Given the description of an element on the screen output the (x, y) to click on. 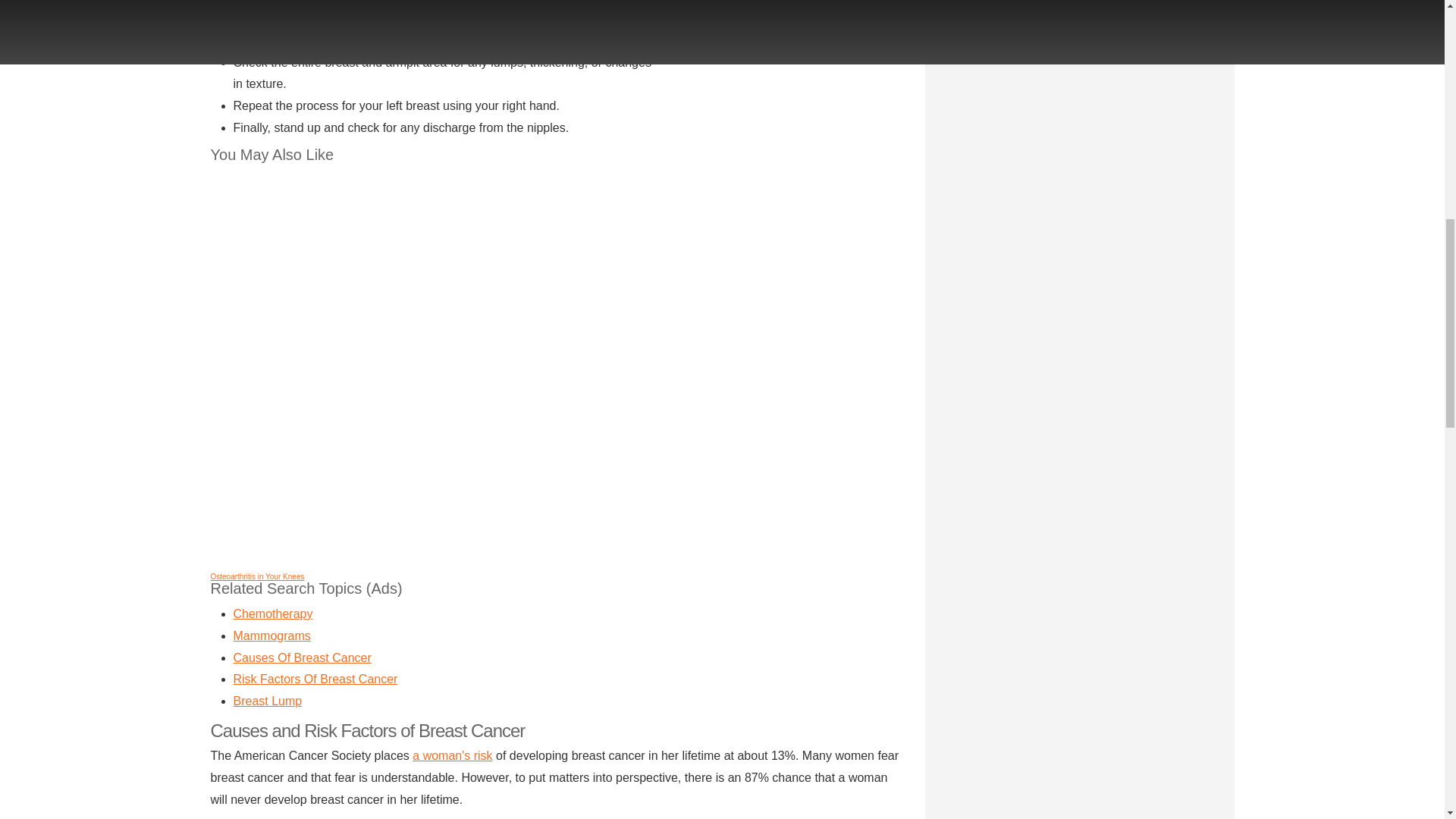
Breast Lump (267, 700)
Chemotherapy (272, 613)
a woman's risk (452, 755)
Risk Factors Of Breast Cancer (314, 678)
Osteoarthritis in Your Knees (257, 576)
Causes Of Breast Cancer (301, 657)
Mammograms (271, 635)
